Given the description of an element on the screen output the (x, y) to click on. 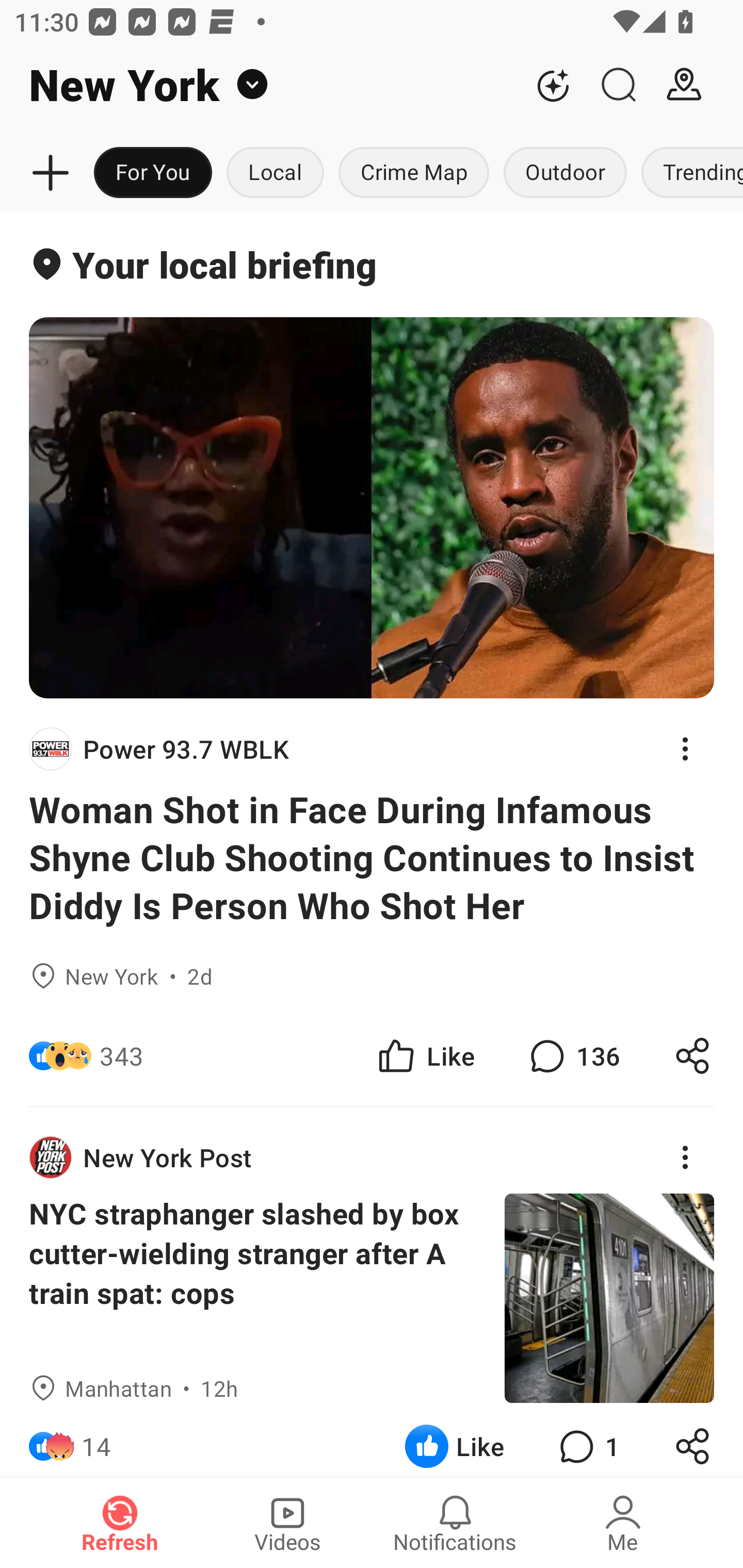
New York (260, 84)
For You (152, 172)
Local (275, 172)
Crime Map (413, 172)
Outdoor (564, 172)
Trending (688, 172)
343 (121, 1055)
Like (425, 1055)
136 (572, 1055)
14 (95, 1440)
Like (454, 1440)
1 (587, 1440)
Videos (287, 1522)
Notifications (455, 1522)
Me (622, 1522)
